Given the description of an element on the screen output the (x, y) to click on. 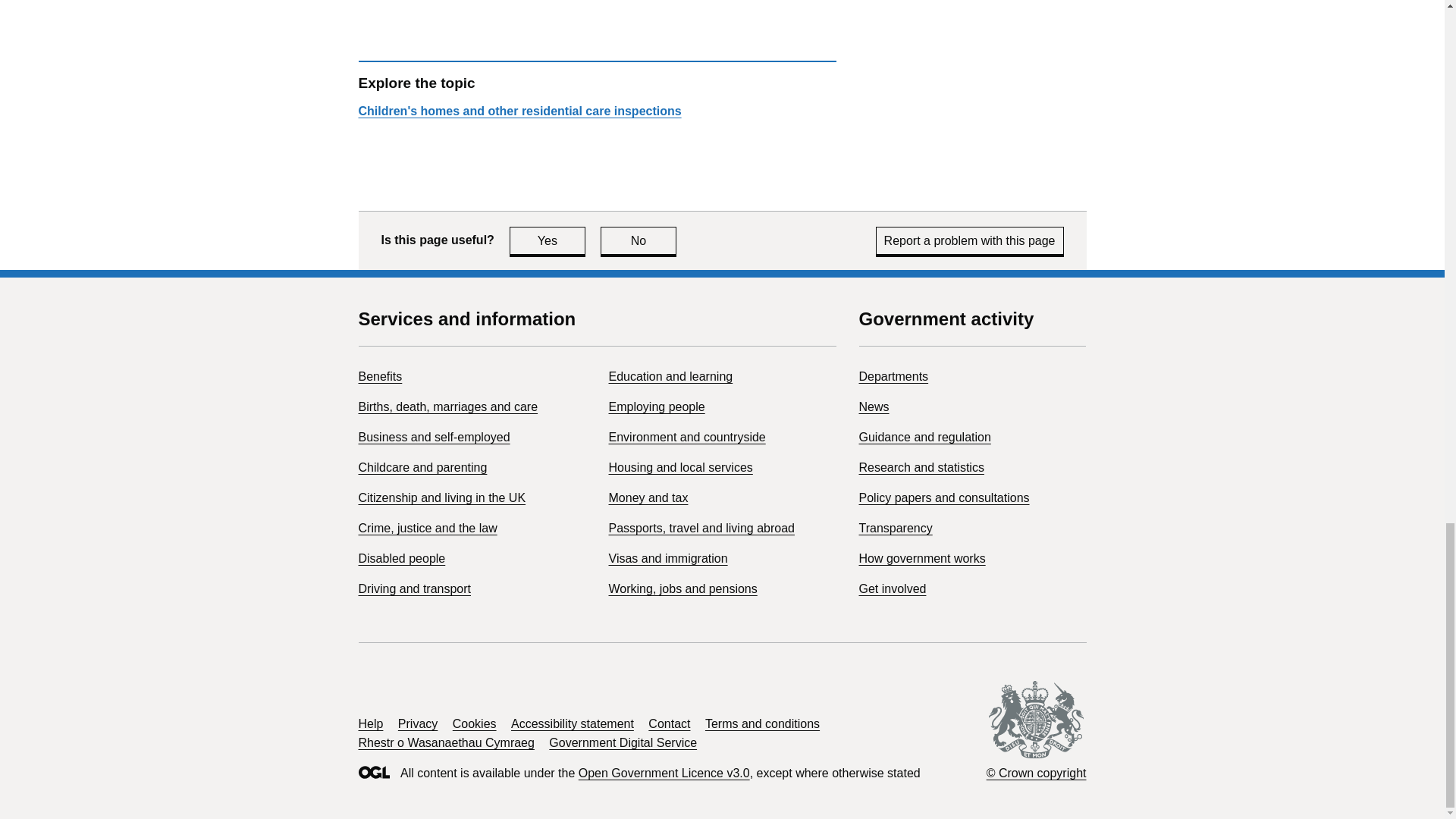
Childcare and parenting (422, 467)
Business and self-employed (433, 436)
Births, death, marriages and care (447, 406)
Citizenship and living in the UK (441, 497)
Disabled people (401, 558)
Report a problem with this page (970, 240)
Benefits (379, 376)
Children's homes and other residential care inspections (638, 240)
Crime, justice and the law (519, 110)
Education and learning (427, 527)
Driving and transport (670, 376)
